Given the description of an element on the screen output the (x, y) to click on. 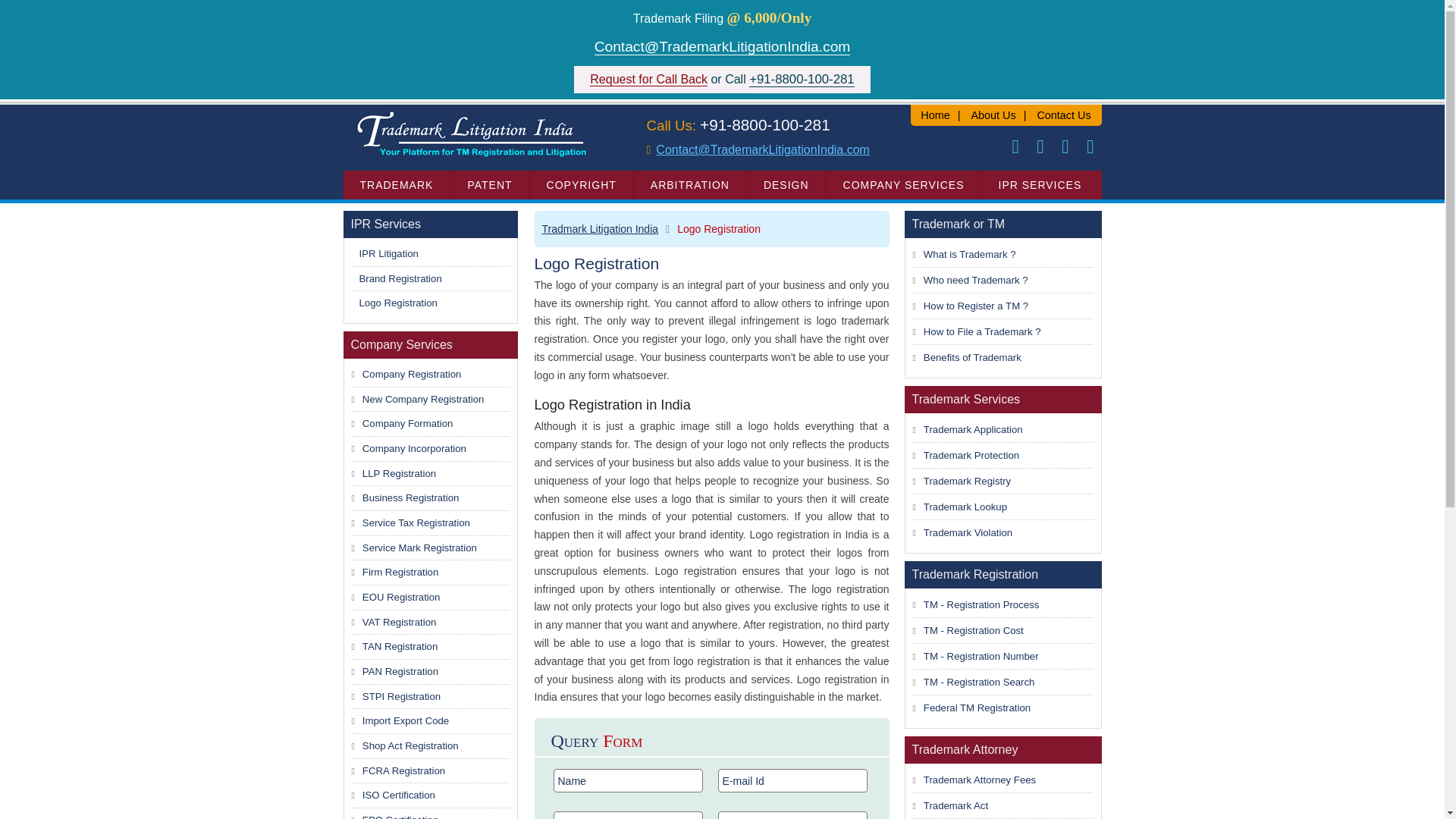
City (792, 815)
Service Mark Registration (419, 547)
TRADEMARK (395, 184)
STPI Registration (401, 696)
FCRA Registration (403, 770)
Company Incorporation (413, 448)
Company Formation (407, 423)
COPYRIGHT (581, 184)
Logo Registration (398, 302)
Home (934, 114)
